Given the description of an element on the screen output the (x, y) to click on. 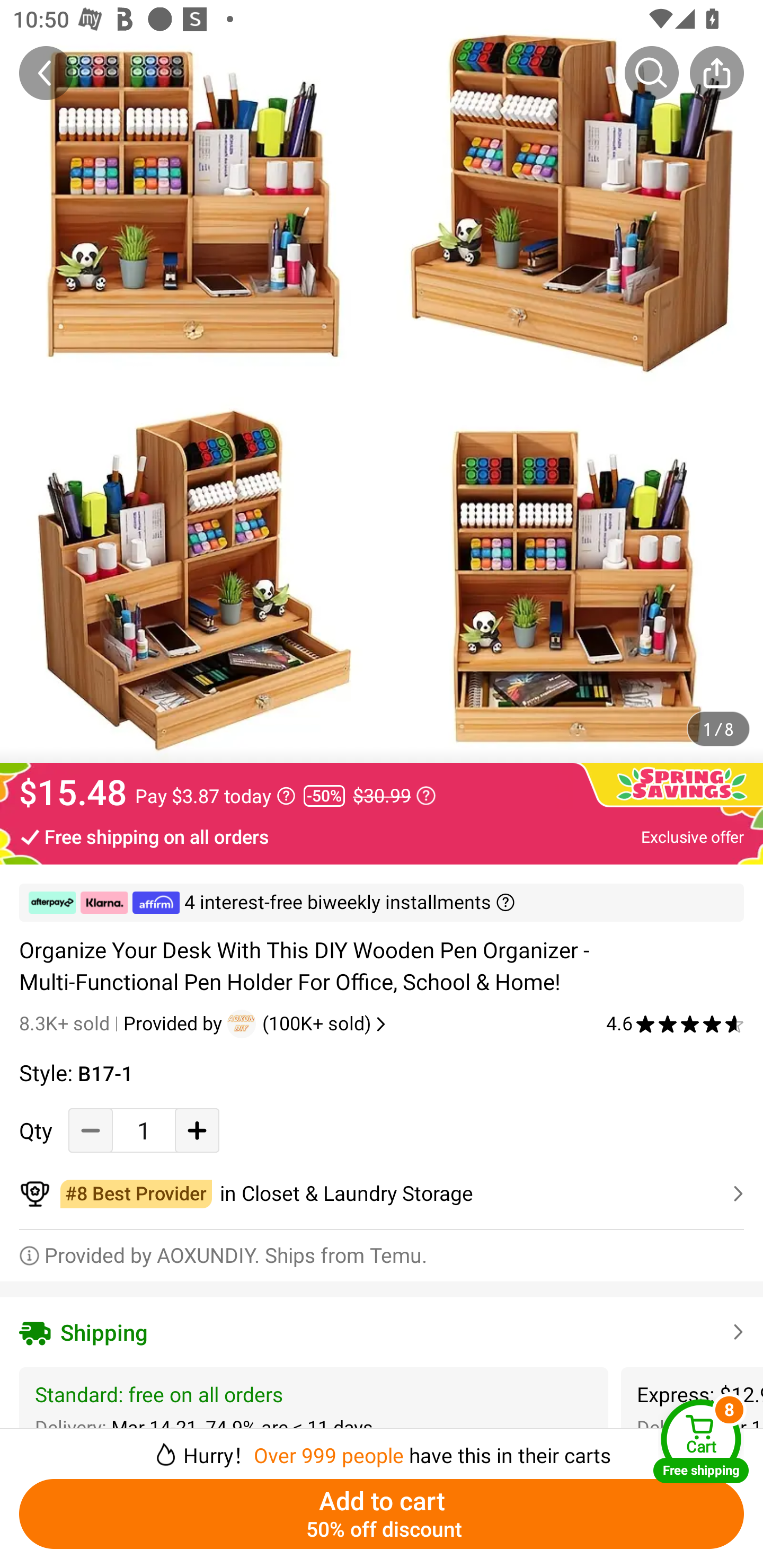
Back (46, 72)
Share (716, 72)
Pay $3.87 today   (215, 795)
Free shipping on all orders Exclusive offer (381, 836)
￼ ￼ ￼ 4 interest-free biweekly installments ￼ (381, 902)
8.3K+ sold Provided by  (123, 1023)
4.6 (674, 1023)
Decrease Quantity Button (90, 1130)
1 (143, 1130)
Add Quantity button (196, 1130)
￼￼in Closet & Laundry Storage (381, 1193)
Shipping (381, 1331)
Cart Free shipping Cart (701, 1440)
￼￼Hurry！Over 999 people have this in their carts (381, 1448)
Add to cart  50% off discount (381, 1513)
